Given the description of an element on the screen output the (x, y) to click on. 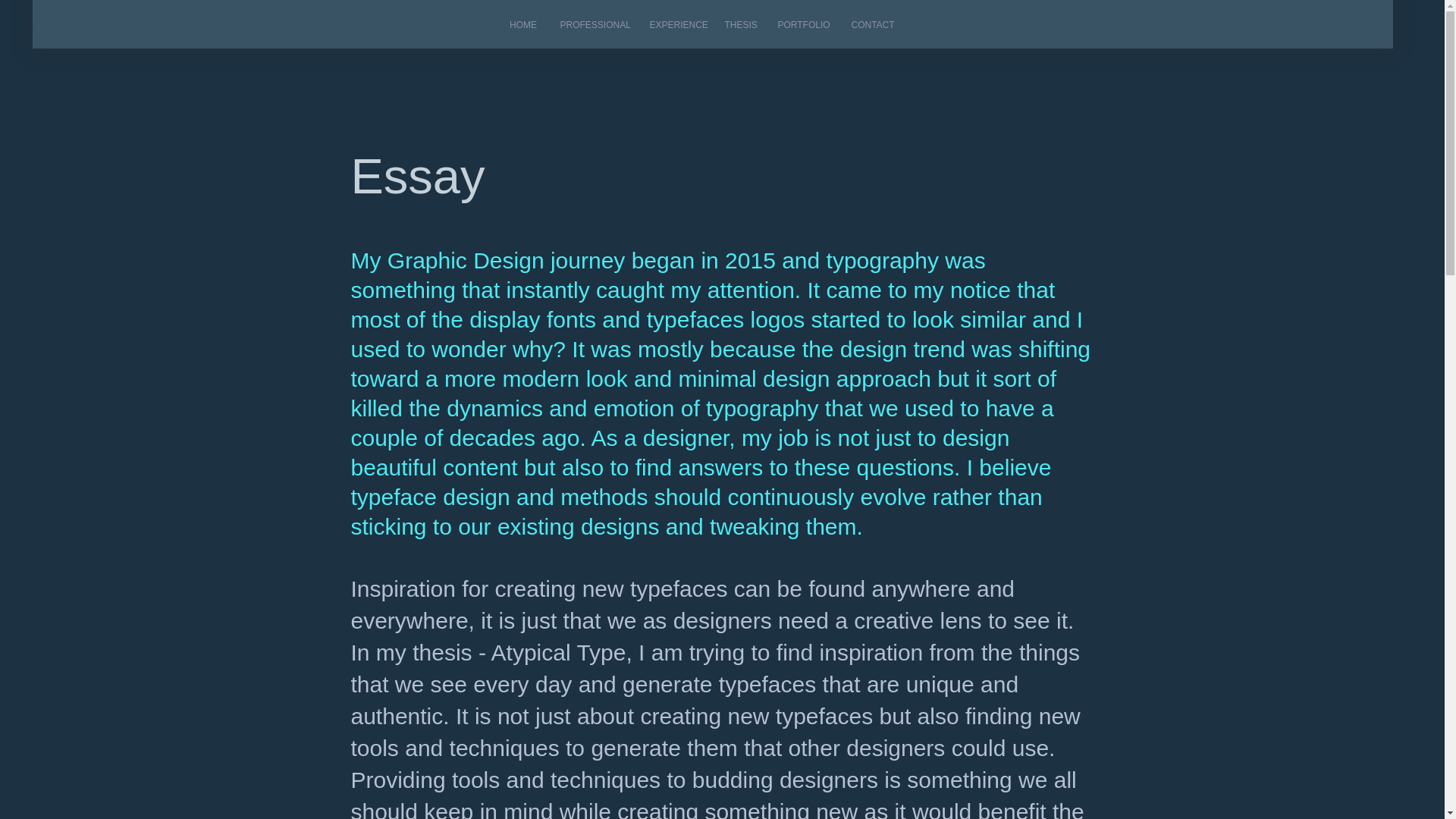
CONTACT (872, 24)
THESIS (739, 24)
HOME (522, 24)
PORTFOLIO (802, 24)
PROFESSIONAL (593, 24)
EXPERIENCE (676, 24)
